Given the description of an element on the screen output the (x, y) to click on. 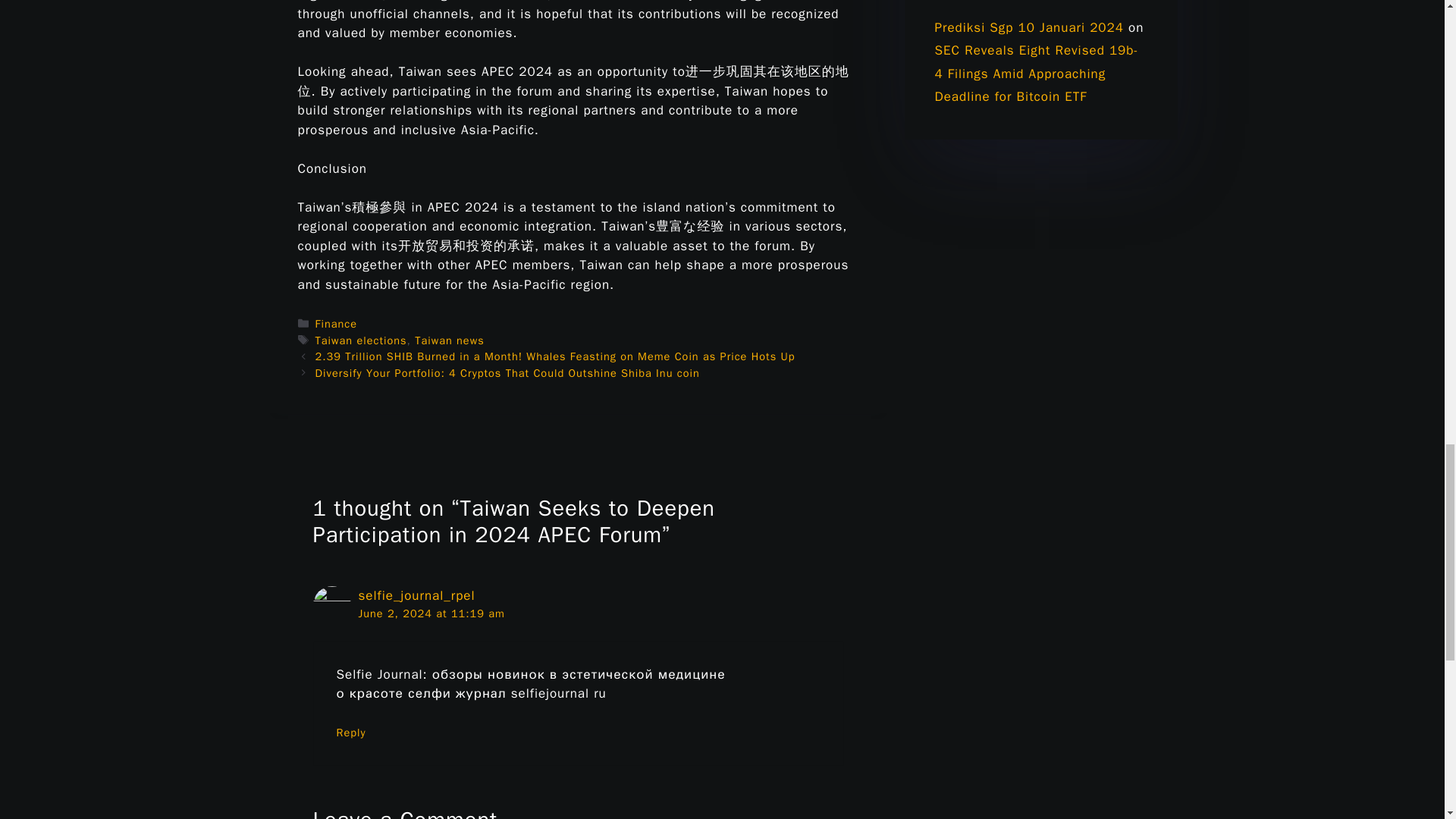
Taiwan elections (361, 340)
Reply (351, 732)
Prediksi Sgp 10 Januari 2024 (1028, 27)
June 2, 2024 at 11:19 am (430, 612)
Taiwan news (448, 340)
Finance (335, 323)
